Given the description of an element on the screen output the (x, y) to click on. 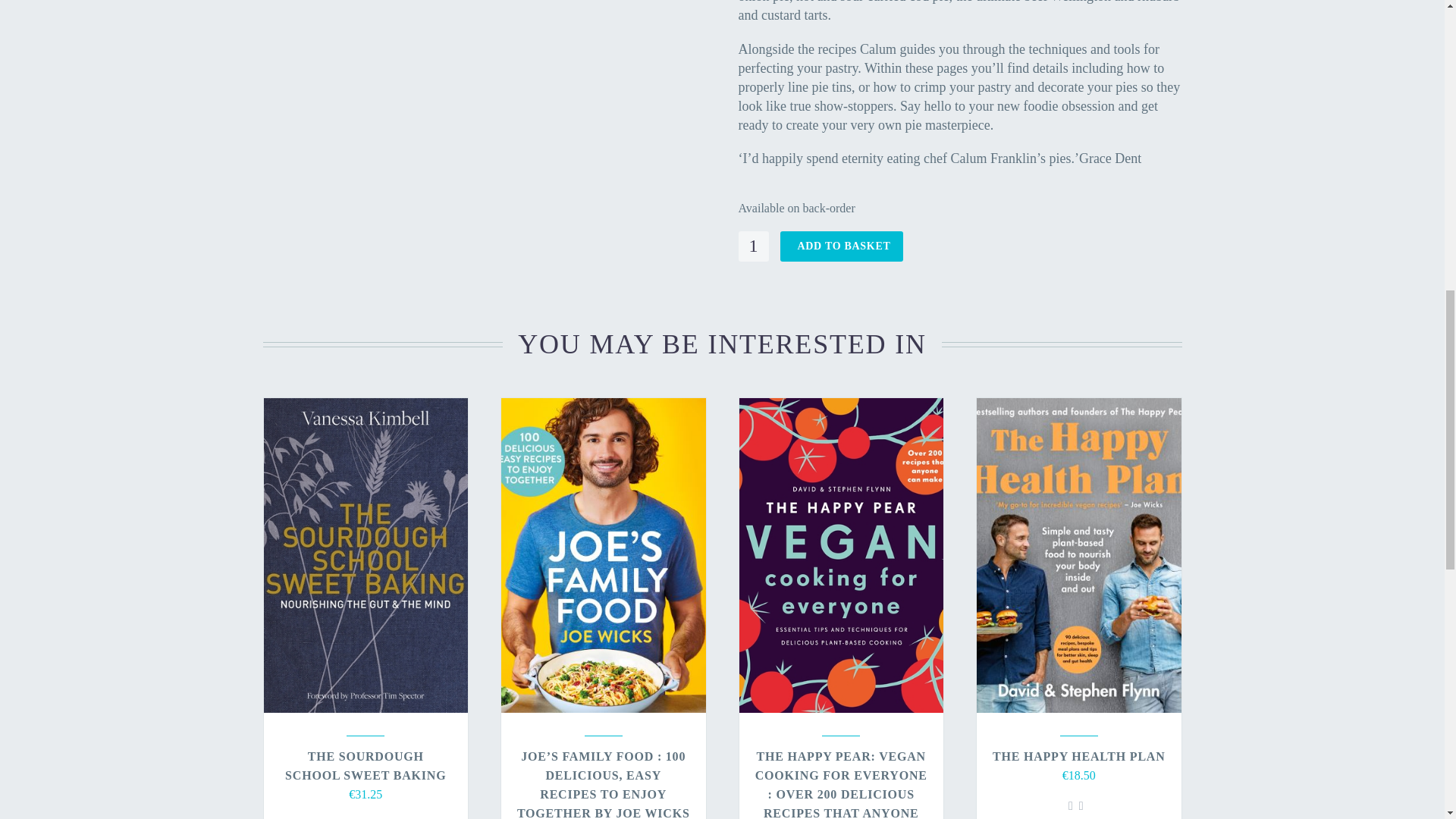
THE HAPPY HEALTH PLAN (1079, 756)
ADD TO BASKET (840, 245)
Qty (753, 245)
1 (753, 245)
THE SOURDOUGH SCHOOL SWEET BAKING (365, 766)
